Given the description of an element on the screen output the (x, y) to click on. 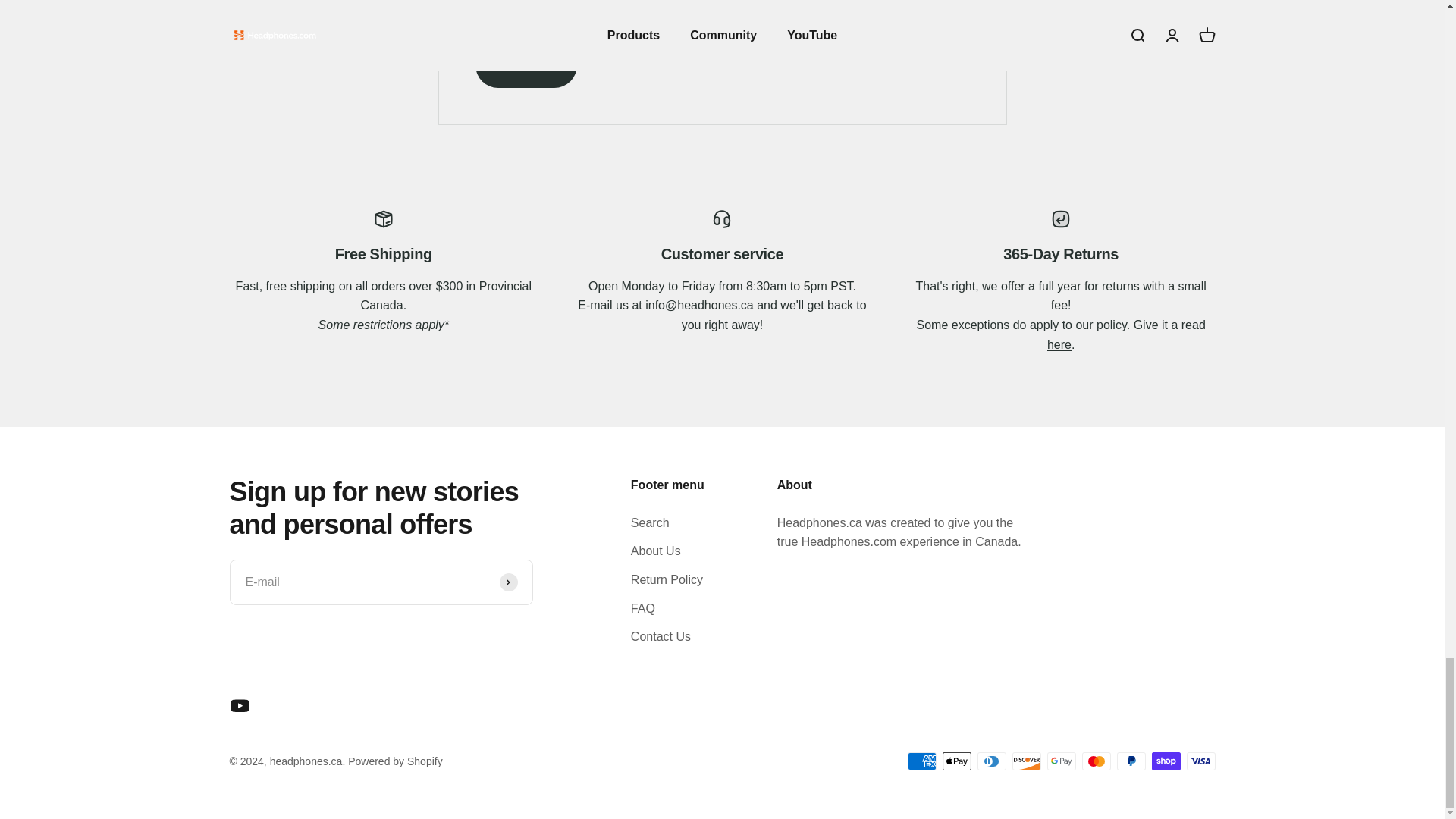
Refund Policy (1125, 334)
